Given the description of an element on the screen output the (x, y) to click on. 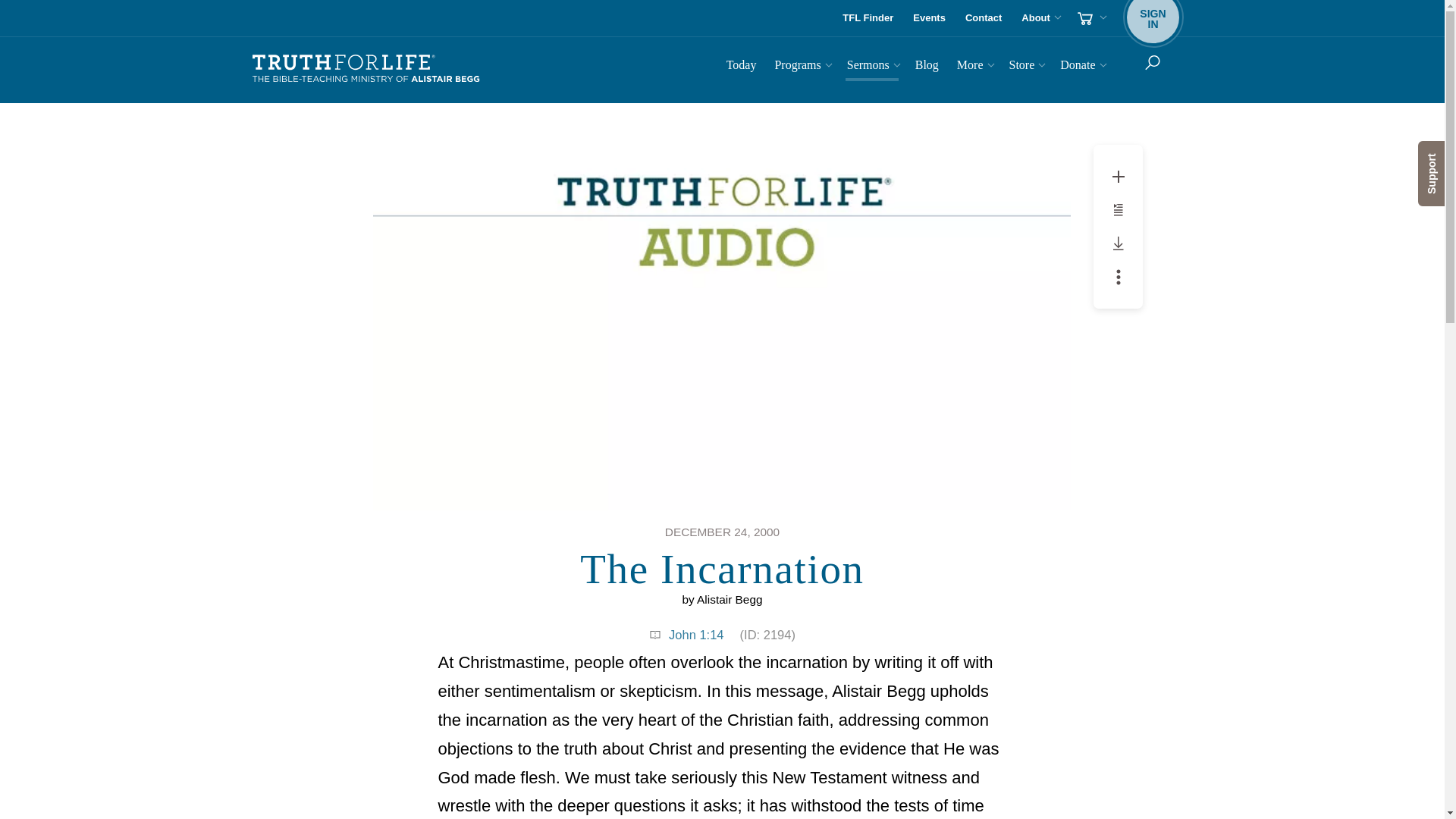
cart (1090, 18)
About (1039, 18)
Download Free (1152, 18)
Events (1118, 243)
Programs (929, 18)
Contact (801, 66)
Add to My Library (983, 18)
TFL Finder (1118, 176)
Add to Listen Queue (867, 18)
Today (1117, 209)
More Options (741, 66)
Listen Queue (1118, 276)
Truth For Life (1118, 209)
Add to My Library (365, 68)
